Given the description of an element on the screen output the (x, y) to click on. 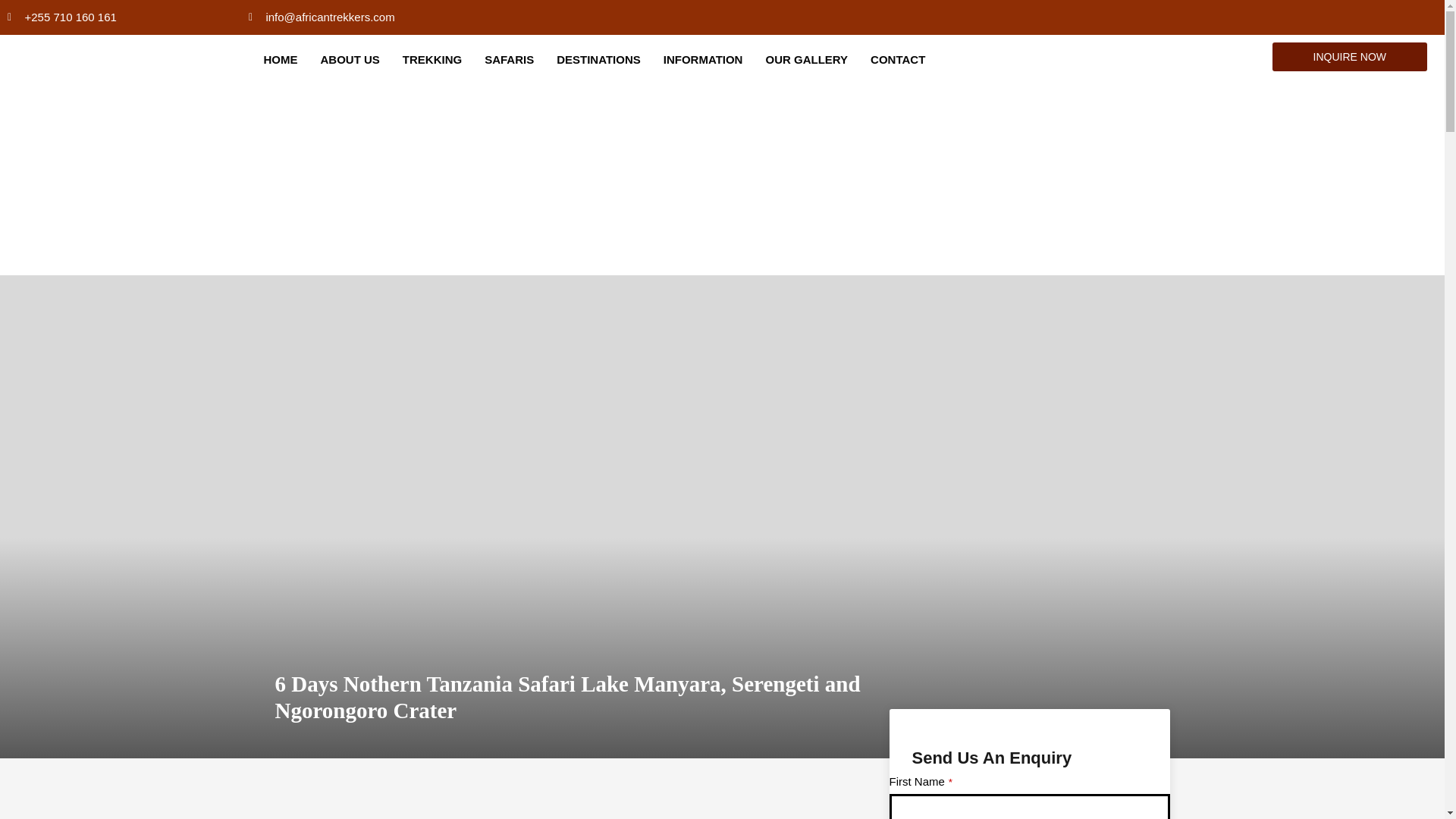
OUR GALLERY (806, 59)
INQUIRE NOW (1349, 56)
INFORMATION (702, 59)
SAFARIS (508, 59)
CONTACT (898, 59)
TREKKING (432, 59)
HOME (280, 59)
DESTINATIONS (598, 59)
ABOUT US (349, 59)
